Given the description of an element on the screen output the (x, y) to click on. 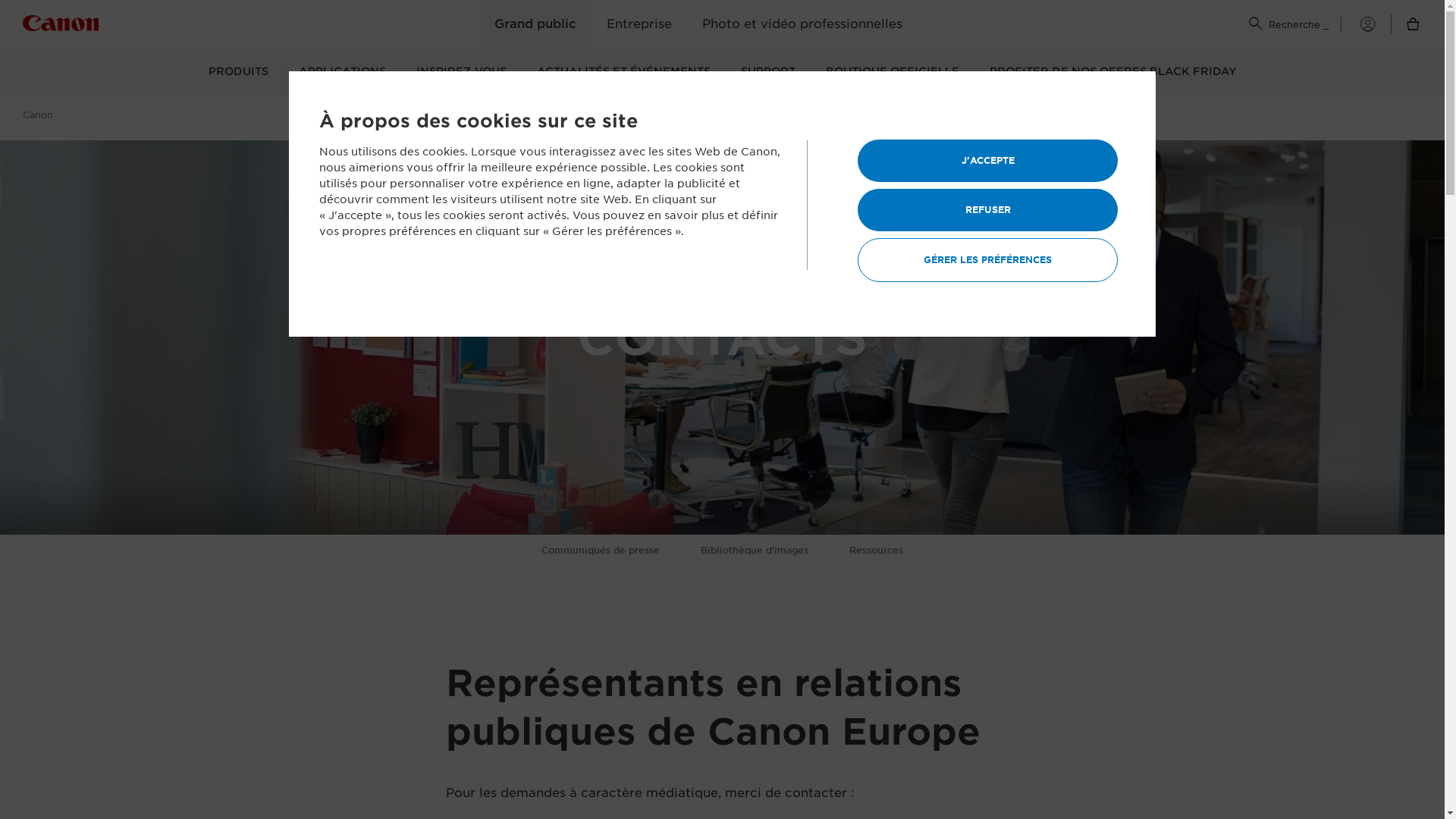
SUPPORT Element type: text (766, 72)
BOUTIQUE OFFICIELLE Element type: text (891, 72)
PROFITER DE NOS OFFRES BLACK FRIDAY Element type: text (1112, 72)
PRODUITS Element type: text (237, 72)
Mon Canon Element type: text (1357, 23)
REFUSER Element type: text (987, 209)
INSPIREZ-VOUS Element type: text (460, 72)
Grand public Element type: text (535, 24)
Ressources Element type: text (875, 550)
Canon Logo Element type: text (60, 26)
Canon Element type: text (43, 114)
J'ACCEPTE Element type: text (987, 160)
Entreprise Element type: text (639, 24)
APPLICATIONS Element type: text (342, 72)
